Given the description of an element on the screen output the (x, y) to click on. 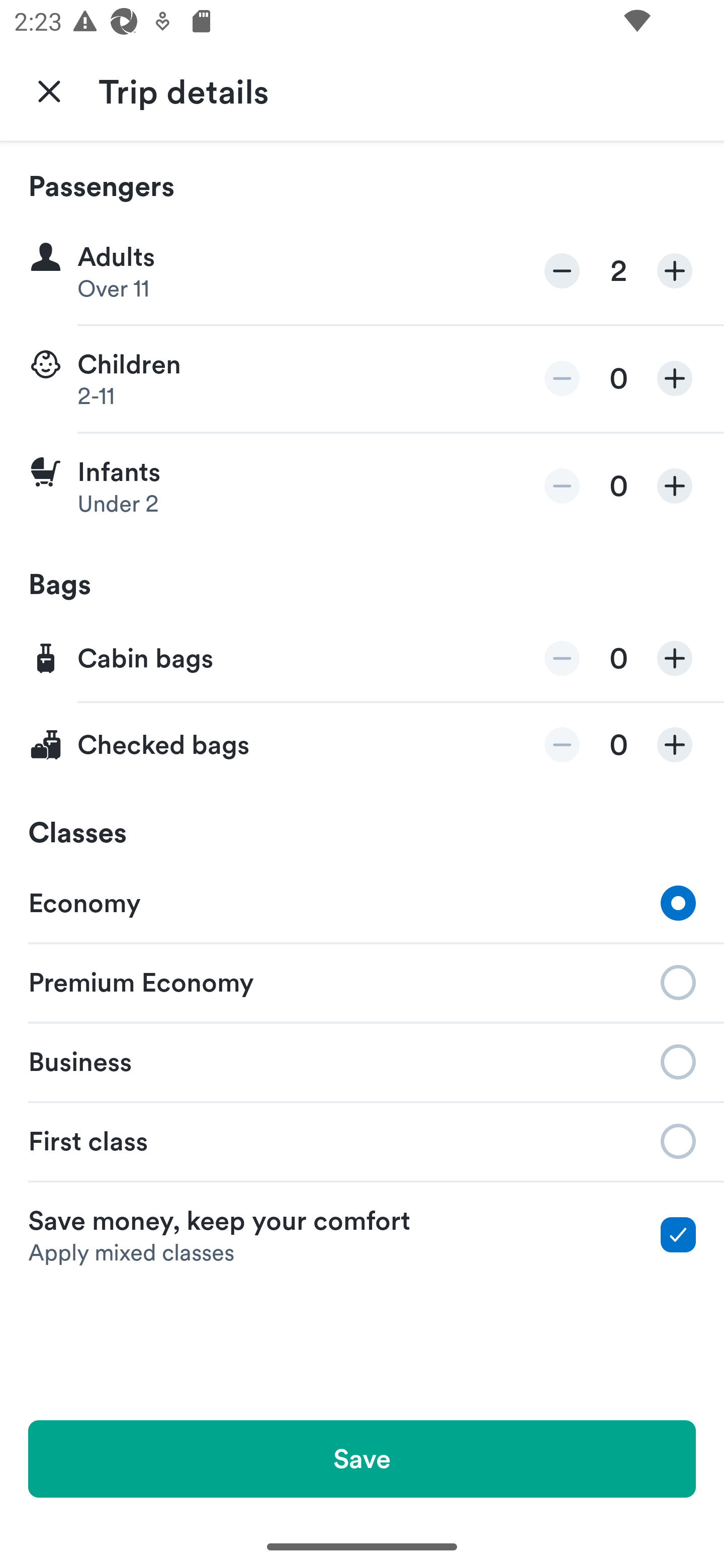
Navigate up (49, 90)
Remove 2 Add Adults Over 11 (362, 271)
Remove (561, 270)
Add (674, 270)
Remove 0 Add Children 2-11 (362, 379)
Remove (561, 377)
Add (674, 377)
Remove 0 Add Infants Under 2 (362, 485)
Remove (561, 485)
Add (674, 485)
Remove 0 Add Cabin bags (362, 659)
Remove (561, 658)
Add (674, 658)
Remove 0 Add Checked bags (362, 744)
Remove (561, 744)
Add (674, 744)
Premium Economy (362, 980)
Business (362, 1060)
First class (362, 1141)
Save (361, 1458)
